Given the description of an element on the screen output the (x, y) to click on. 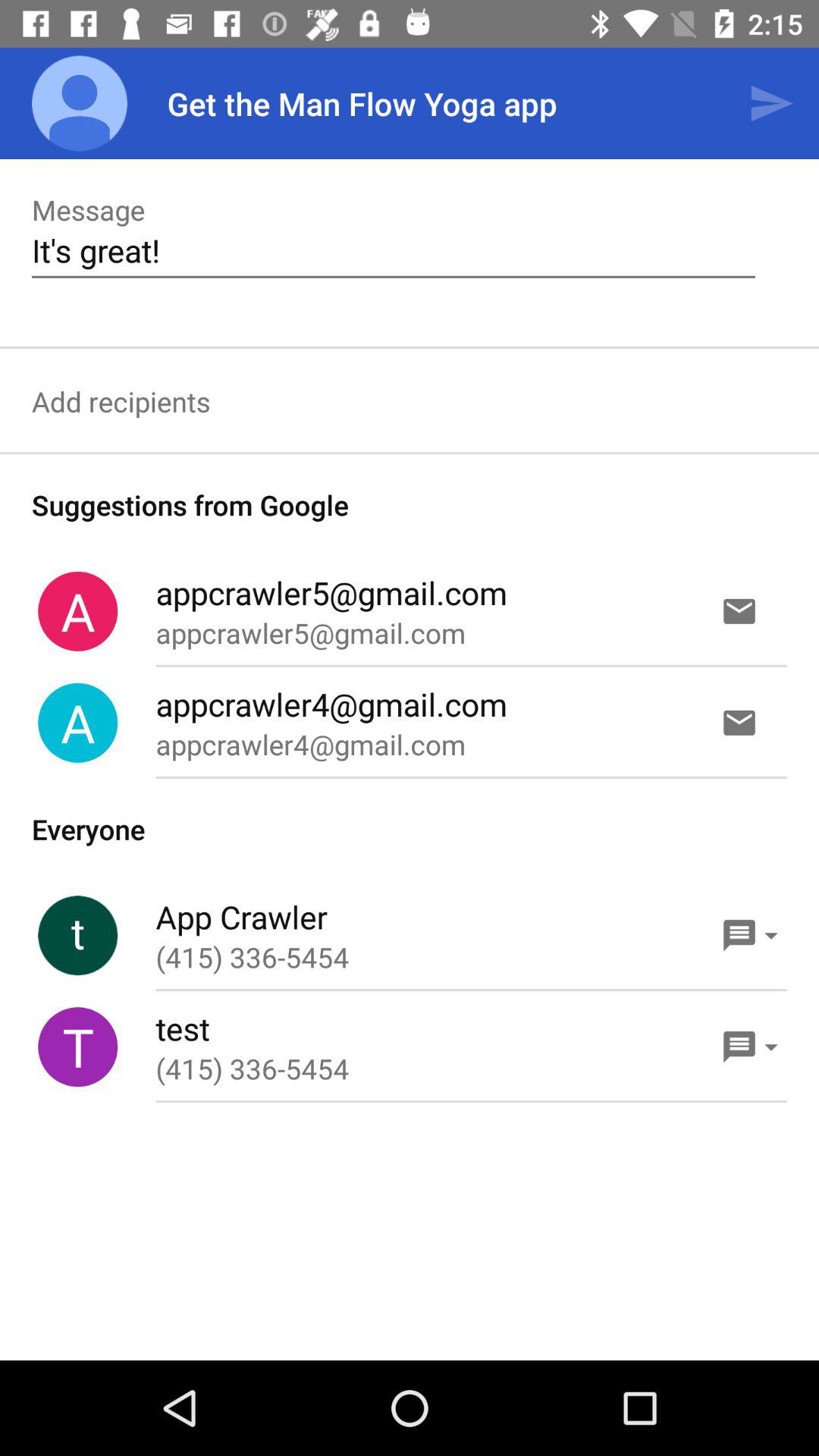
open the icon above it's great! item (771, 103)
